Given the description of an element on the screen output the (x, y) to click on. 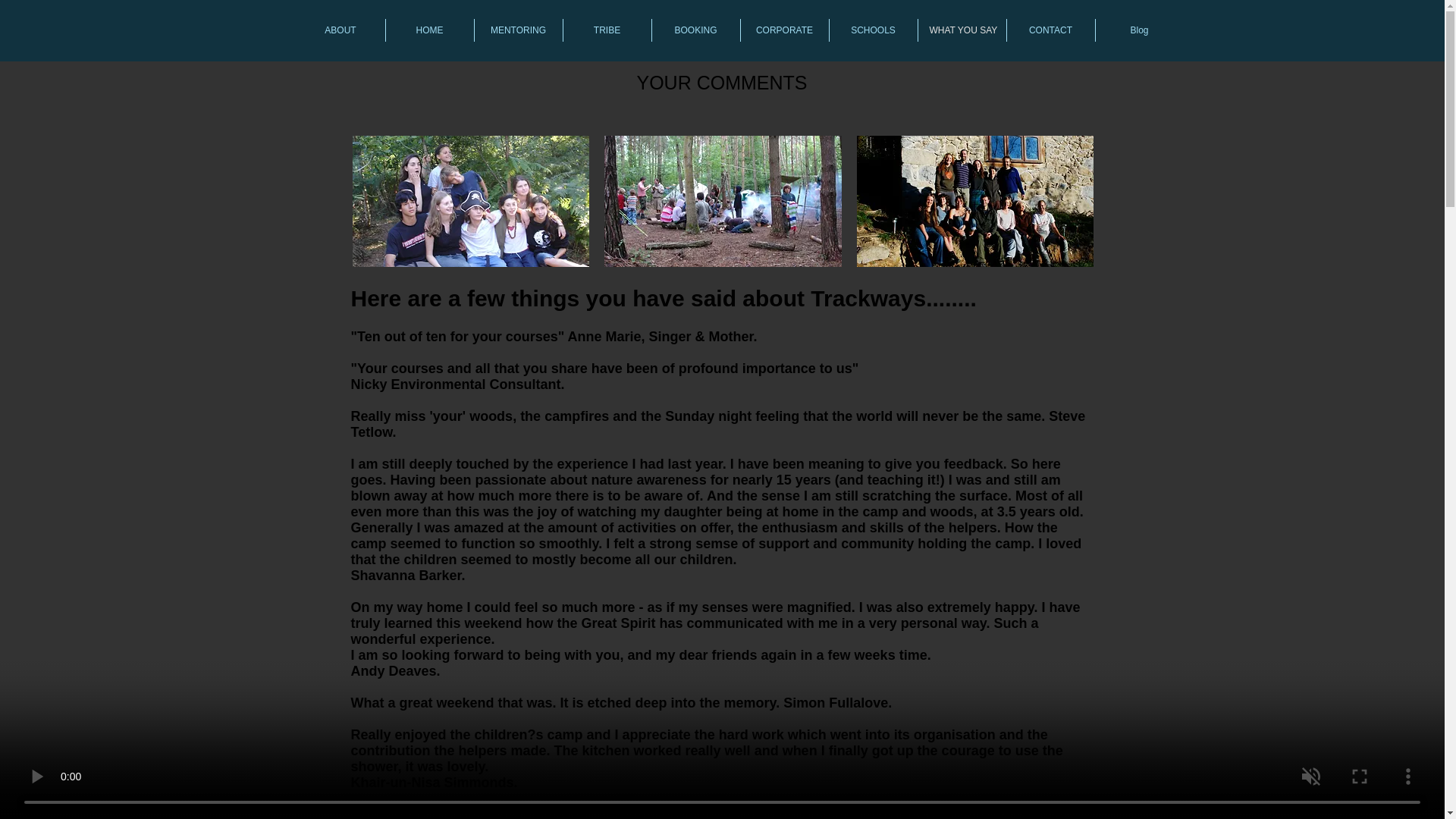
CONTACT (1050, 29)
HOME (429, 29)
MENTORING (518, 29)
SCHOOLS (873, 29)
TRIBE (606, 29)
ABOUT (339, 29)
BOOKING (695, 29)
CORPORATE (783, 29)
Blog (1138, 29)
WHAT YOU SAY (961, 29)
